Given the description of an element on the screen output the (x, y) to click on. 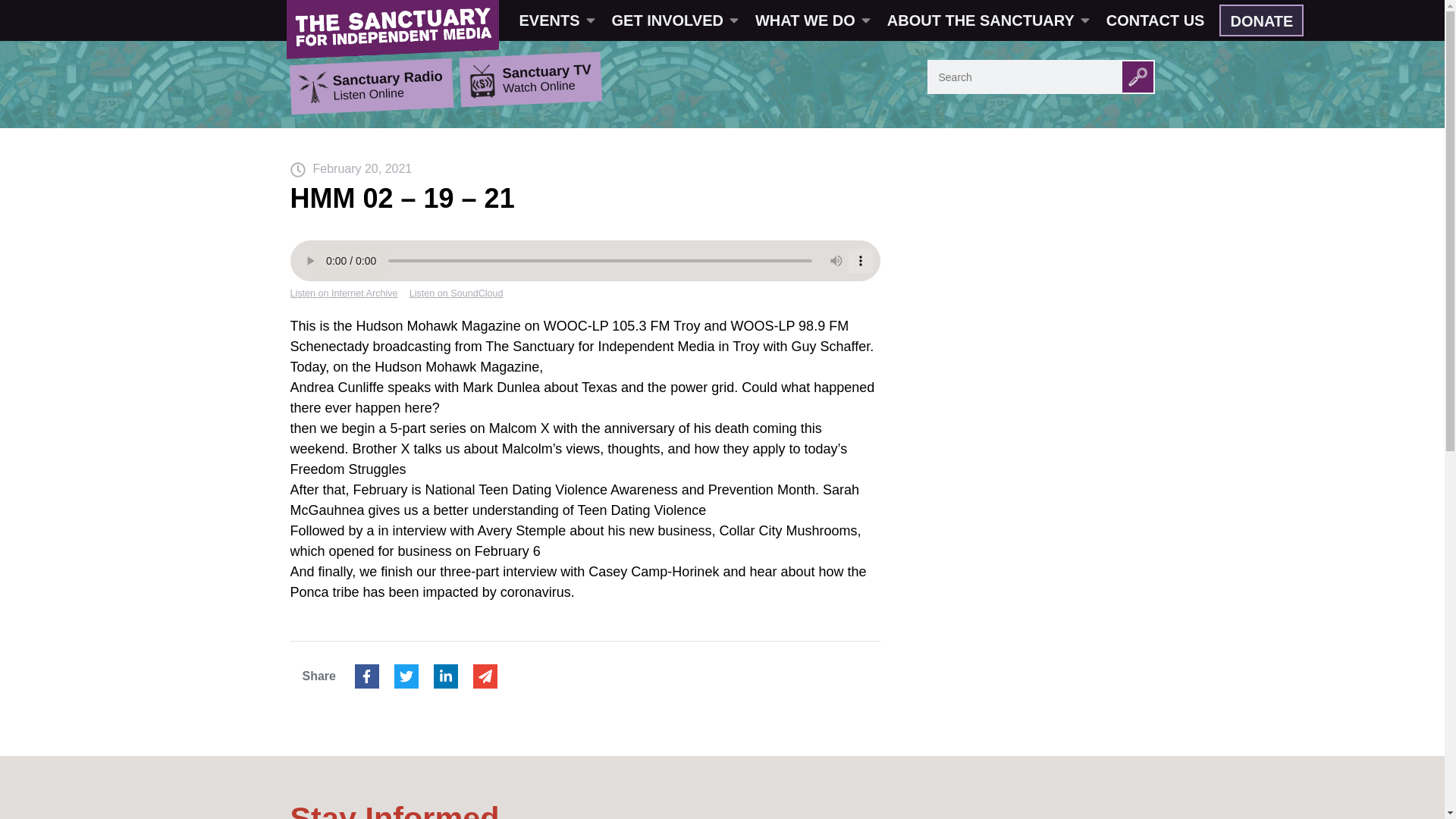
WHAT WE DO (811, 20)
ABOUT THE SANCTUARY (987, 20)
GET INVOLVED (673, 20)
EVENTS (555, 20)
